Given the description of an element on the screen output the (x, y) to click on. 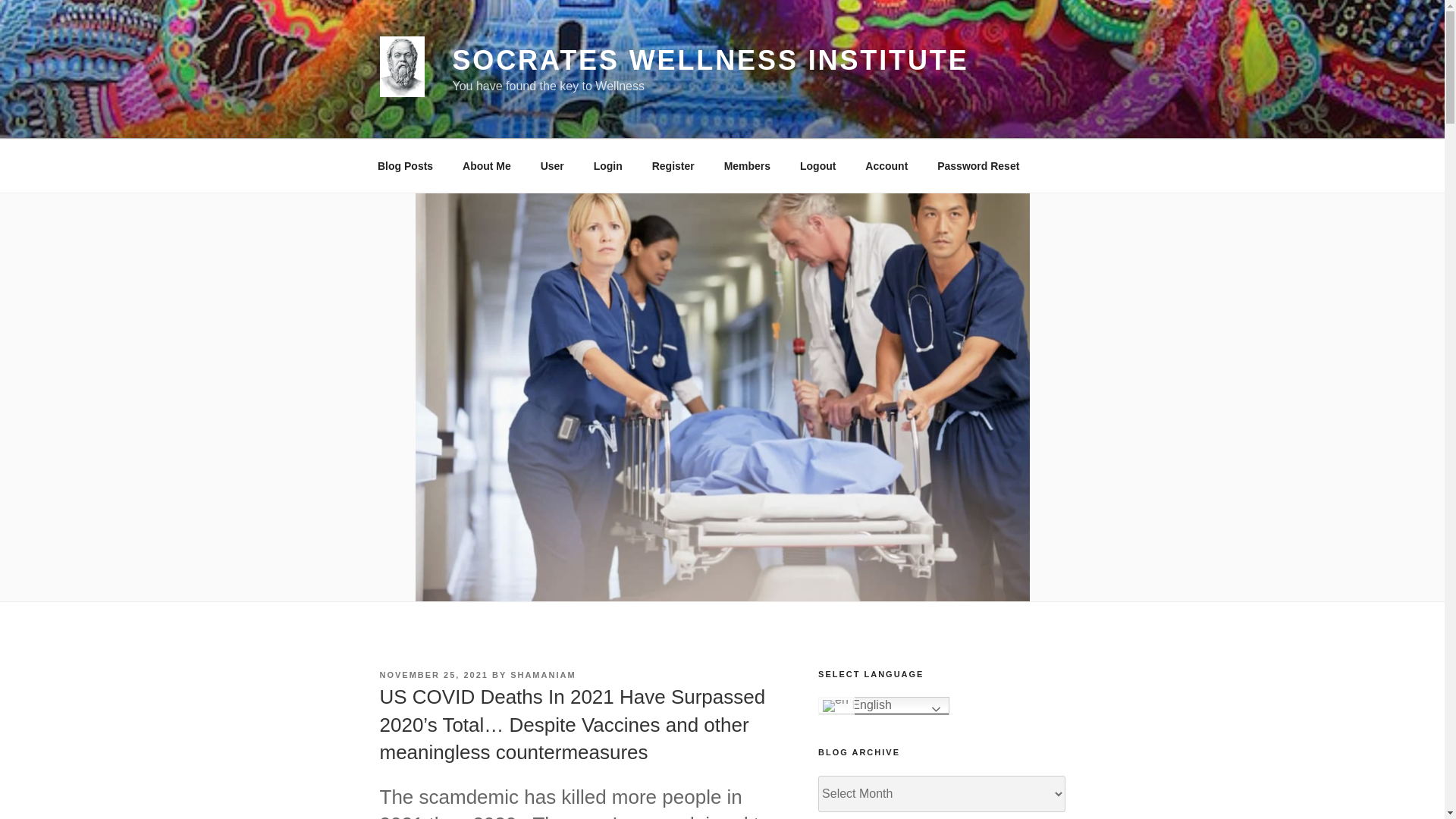
Logout (817, 165)
Password Reset (978, 165)
User (551, 165)
SHAMANIAM (543, 674)
English (883, 705)
NOVEMBER 25, 2021 (432, 674)
Members (746, 165)
Register (673, 165)
About Me (486, 165)
Login (606, 165)
